Given the description of an element on the screen output the (x, y) to click on. 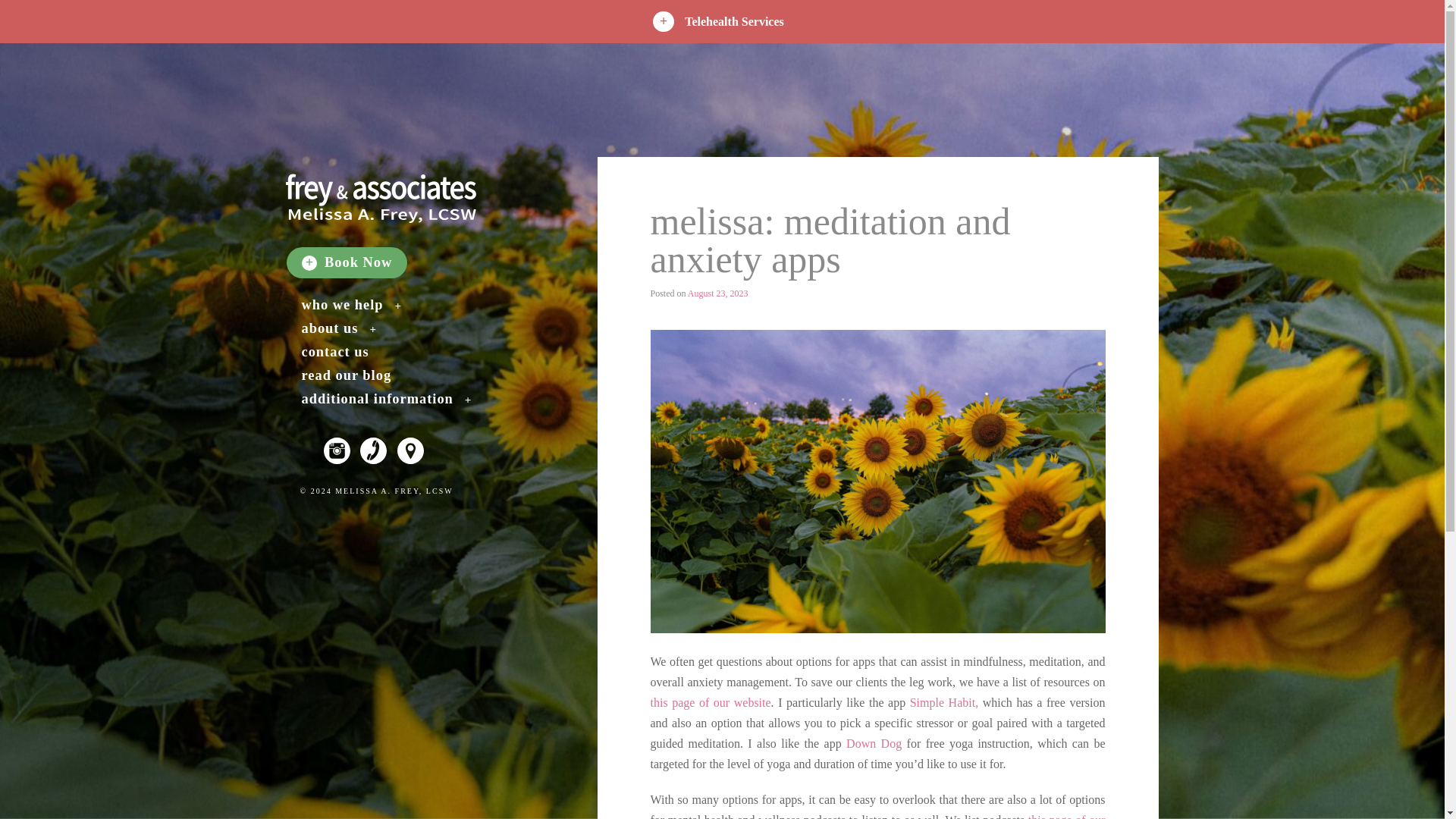
additional information (386, 398)
contact us (335, 351)
Down Dog (873, 743)
about us (339, 328)
Melissa A. Frey, LCSW (379, 201)
who we help (352, 304)
Simple Habit, (944, 702)
this page of our website (710, 702)
August 23, 2023 (717, 293)
